Given the description of an element on the screen output the (x, y) to click on. 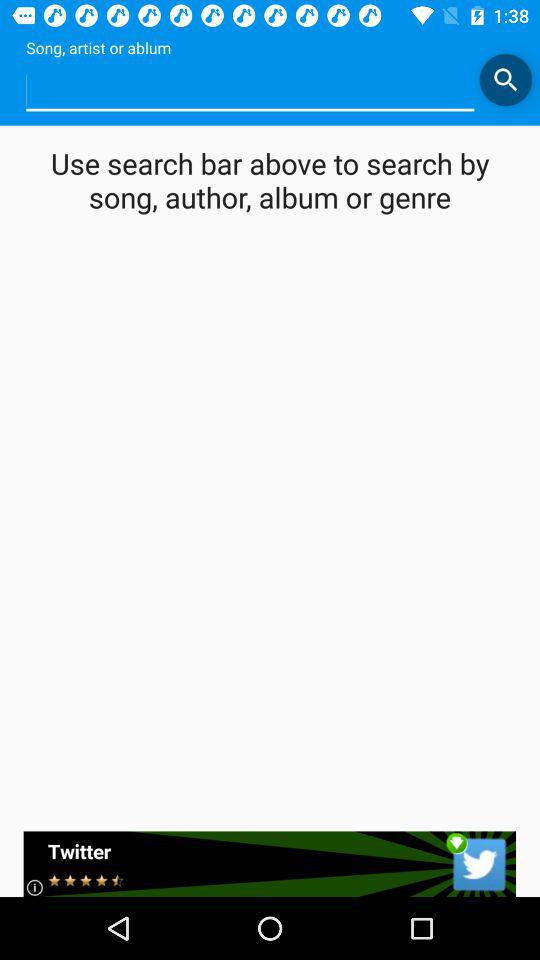
select the option (250, 90)
